Given the description of an element on the screen output the (x, y) to click on. 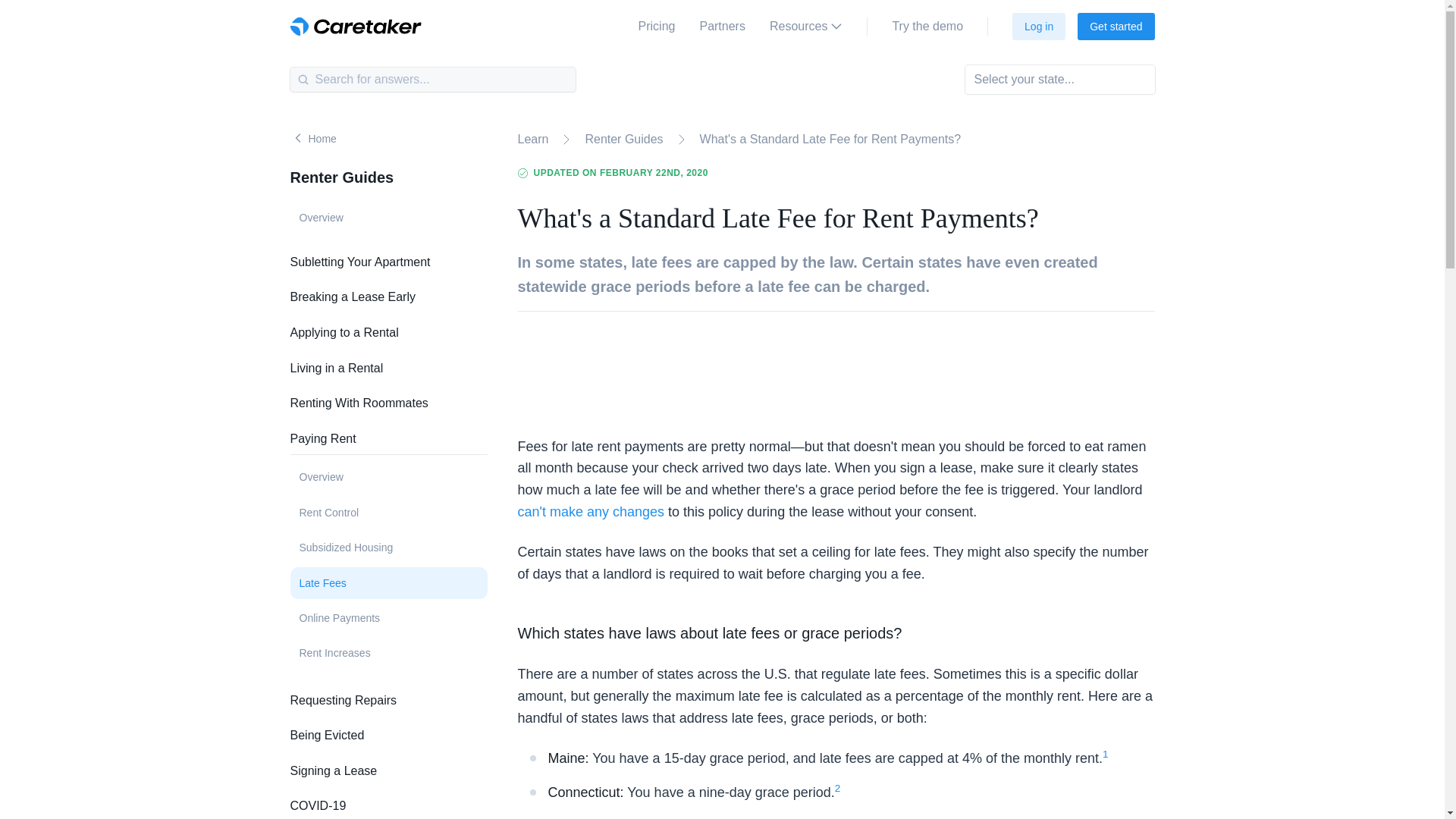
Log in (1038, 26)
Get started (1115, 26)
Overview (387, 217)
Try the demo (926, 26)
Resources (806, 26)
Home (312, 138)
Select your state... (1058, 79)
